Given the description of an element on the screen output the (x, y) to click on. 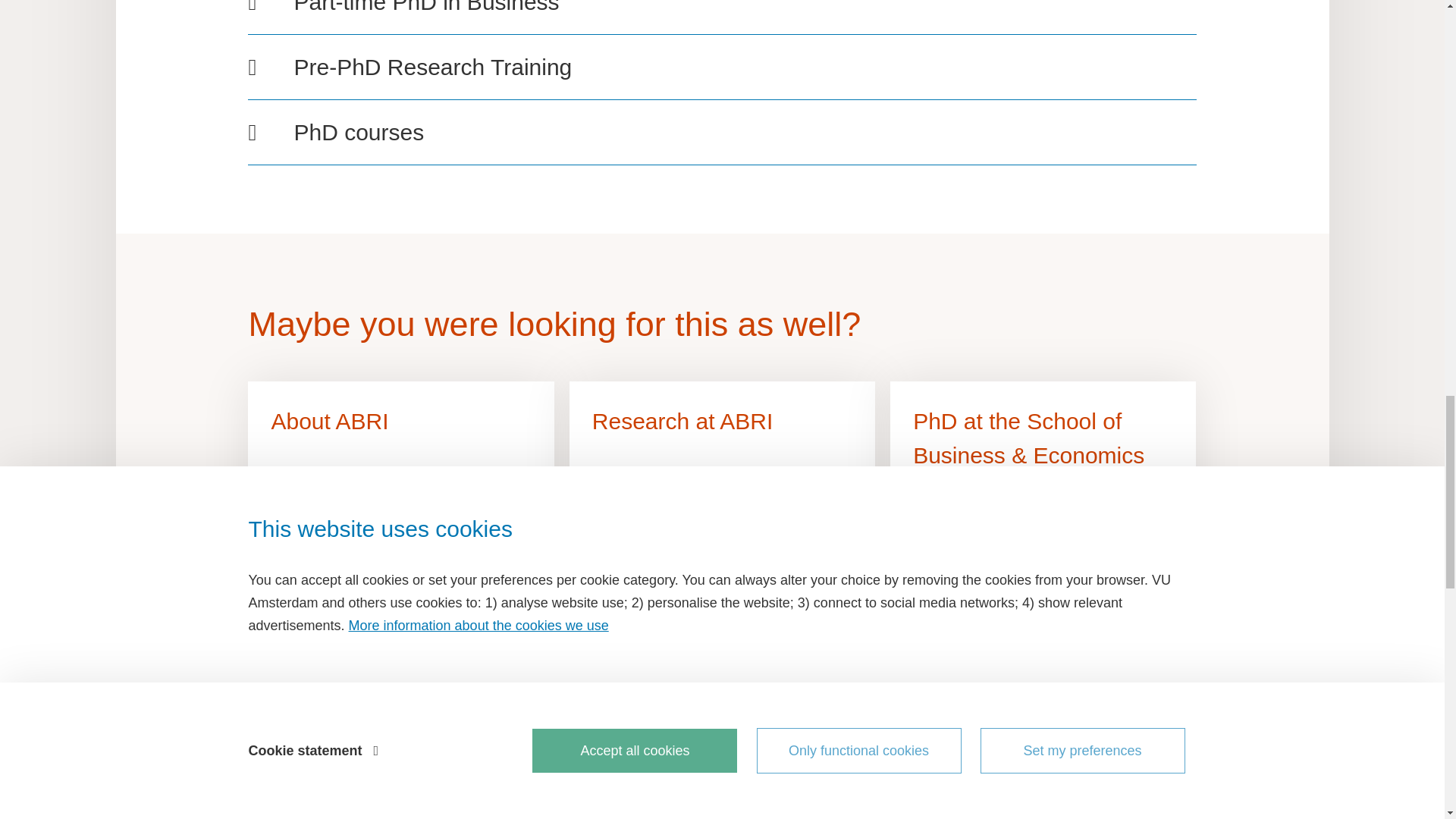
About ABRI (400, 472)
Pre-PhD Research Training (721, 66)
Part-time PhD in Business (721, 9)
Research at ABRI (722, 472)
PhD courses (721, 132)
